Given the description of an element on the screen output the (x, y) to click on. 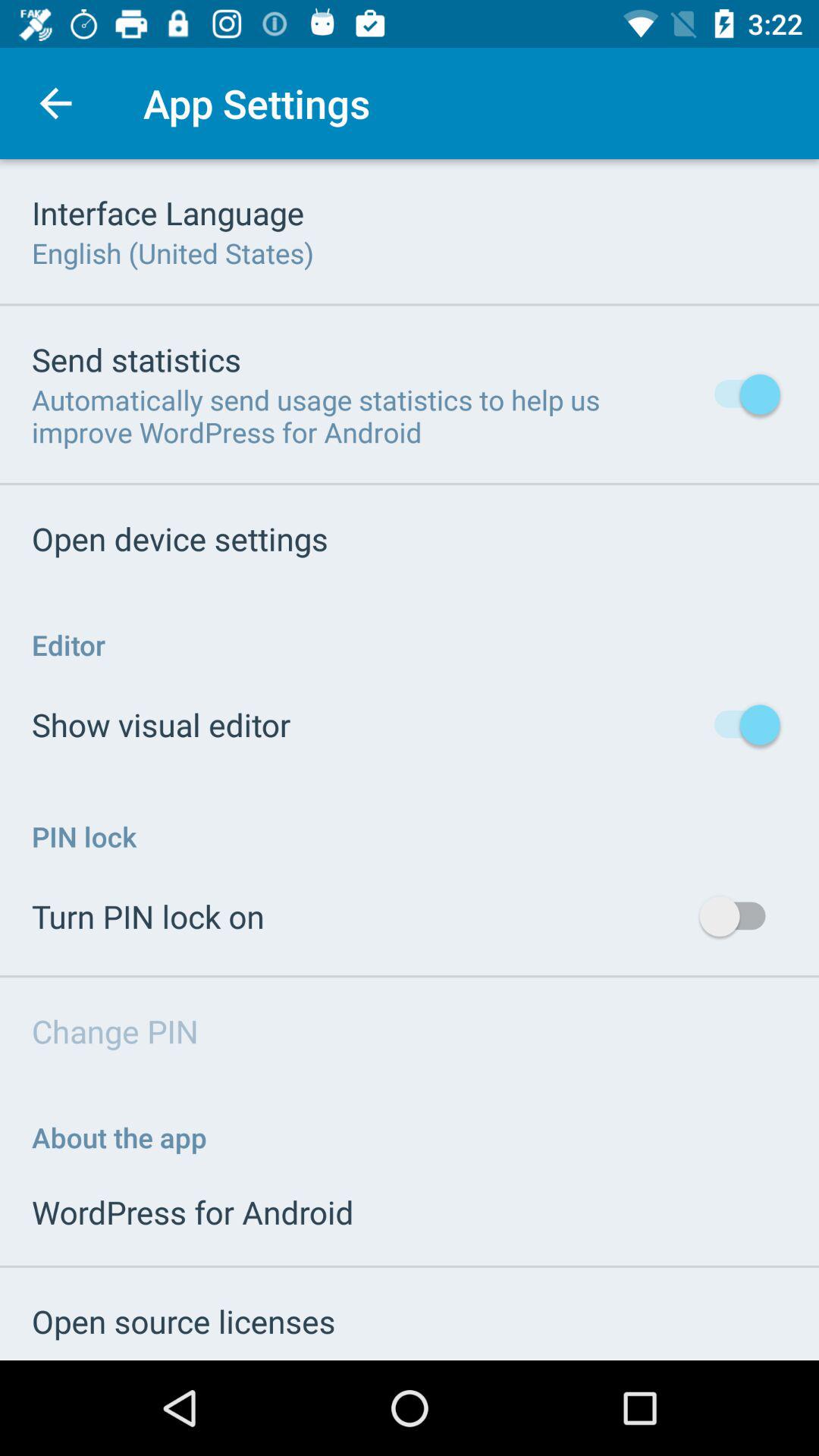
swipe to the show visual editor icon (160, 724)
